Given the description of an element on the screen output the (x, y) to click on. 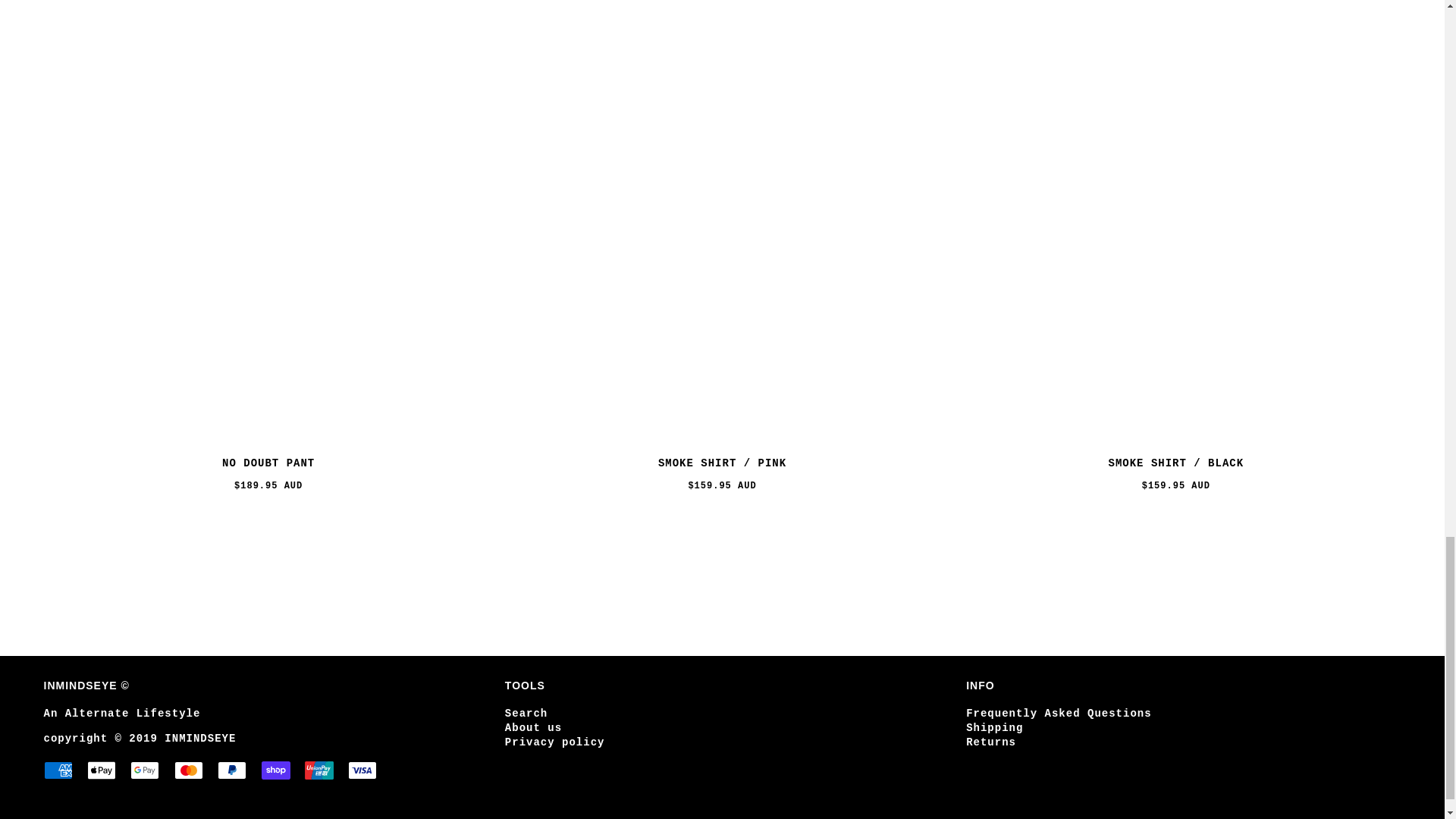
Privacy policy (555, 742)
Search (526, 713)
Shop Pay (275, 770)
Apple Pay (101, 770)
Visa (362, 770)
Frequently Asked Questions (1058, 713)
Shipping (994, 727)
Mastercard (188, 770)
American Express (57, 770)
About us (533, 727)
